Given the description of an element on the screen output the (x, y) to click on. 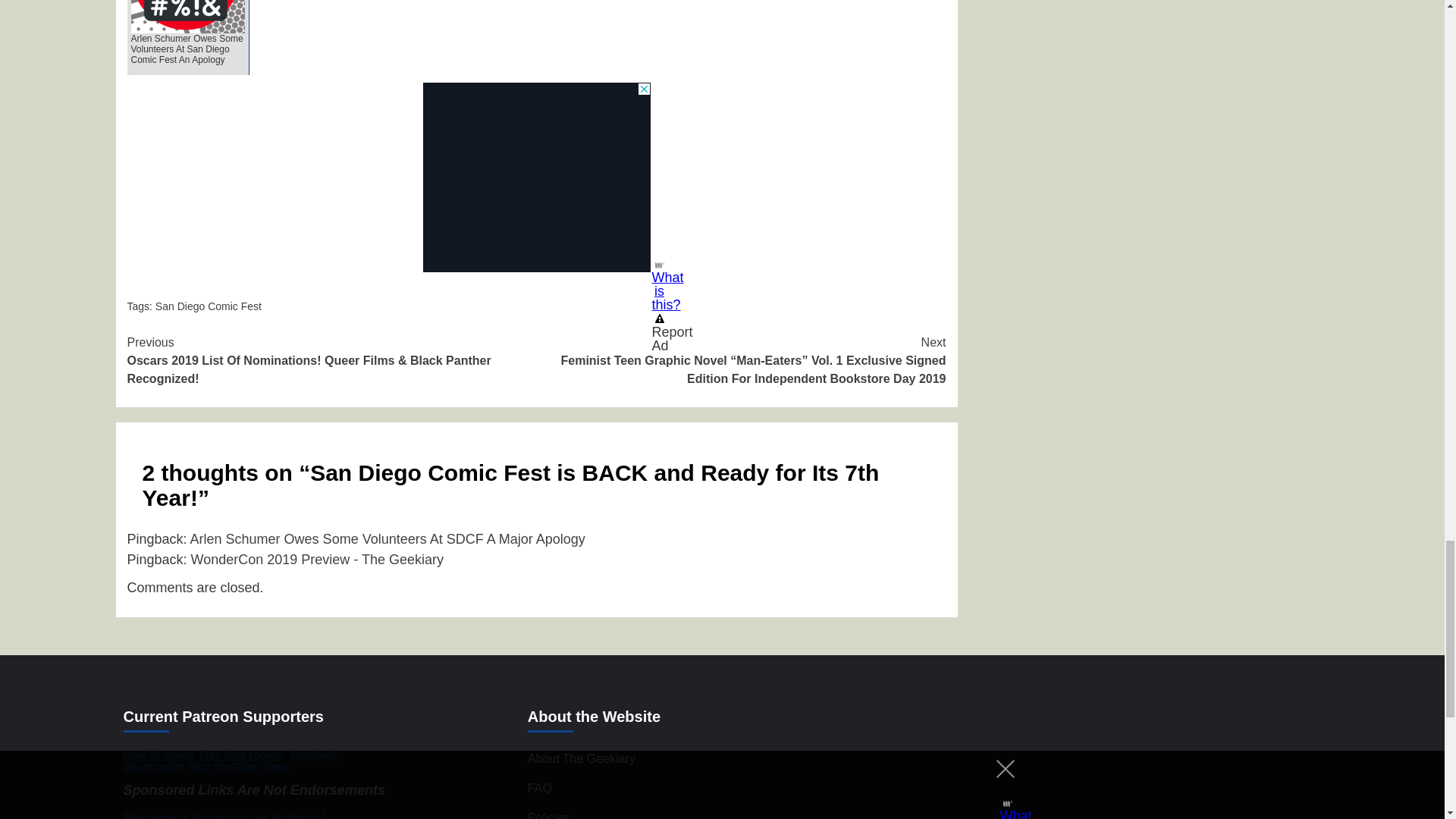
3rd party ad content (536, 176)
